Given the description of an element on the screen output the (x, y) to click on. 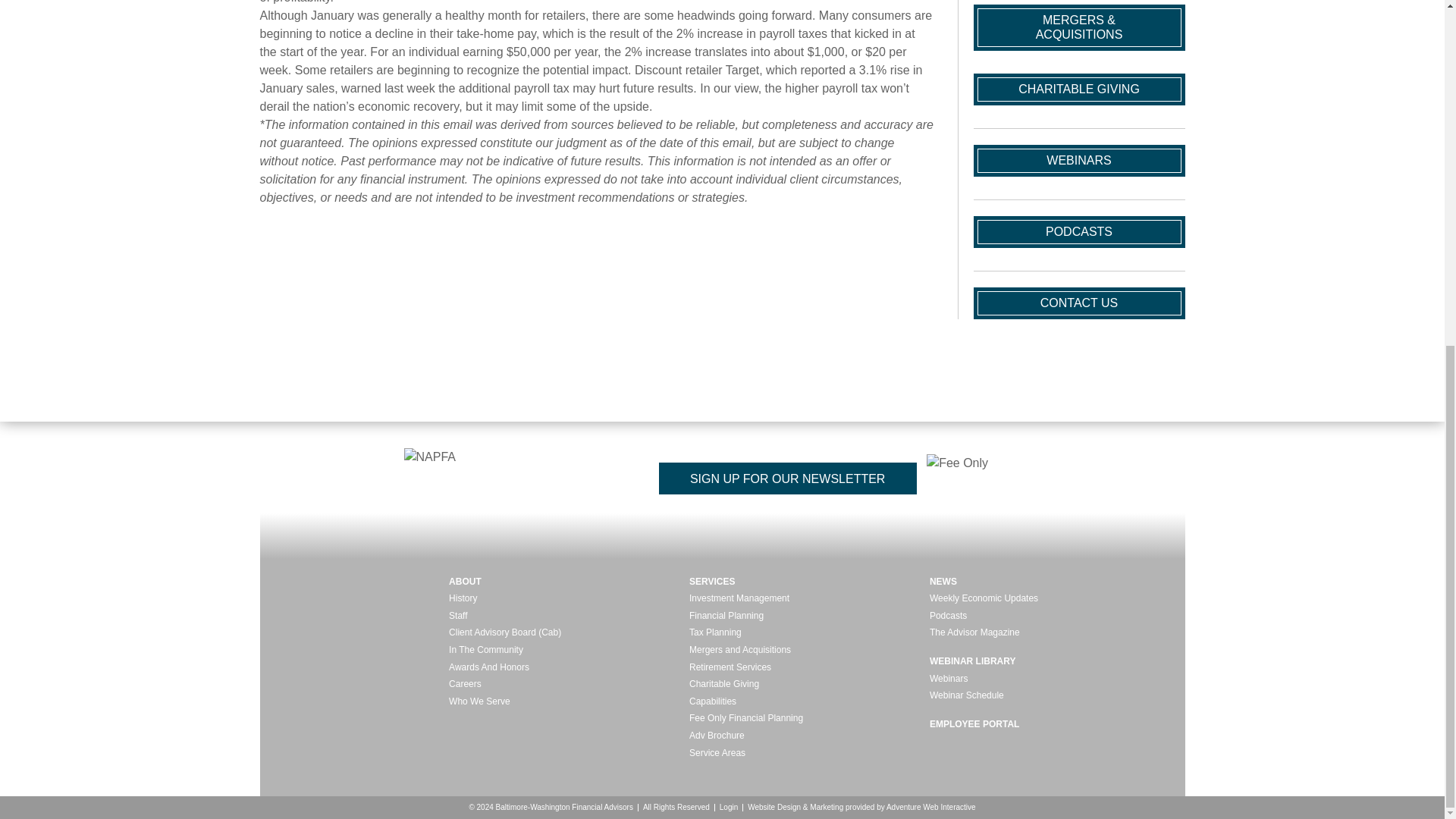
Fee Only (1003, 478)
NAPFA (490, 478)
